Given the description of an element on the screen output the (x, y) to click on. 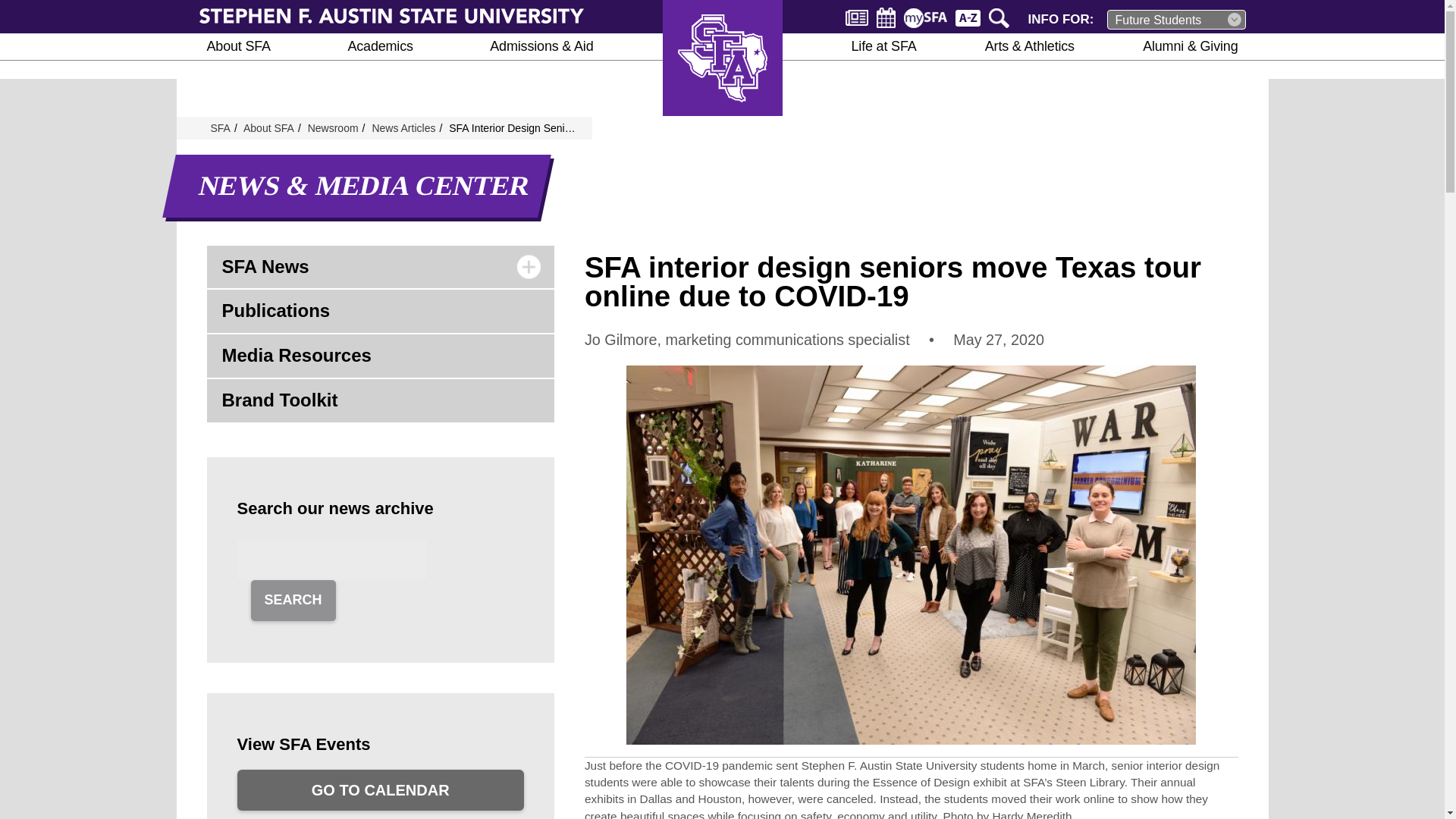
A to Z list (967, 17)
Calendar (885, 17)
Search  (1000, 17)
News (856, 17)
Calendar (885, 17)
About SFA (238, 46)
Future Students (1176, 19)
mySFA (925, 17)
mySFA (925, 17)
News (856, 17)
Search (1000, 17)
